Given the description of an element on the screen output the (x, y) to click on. 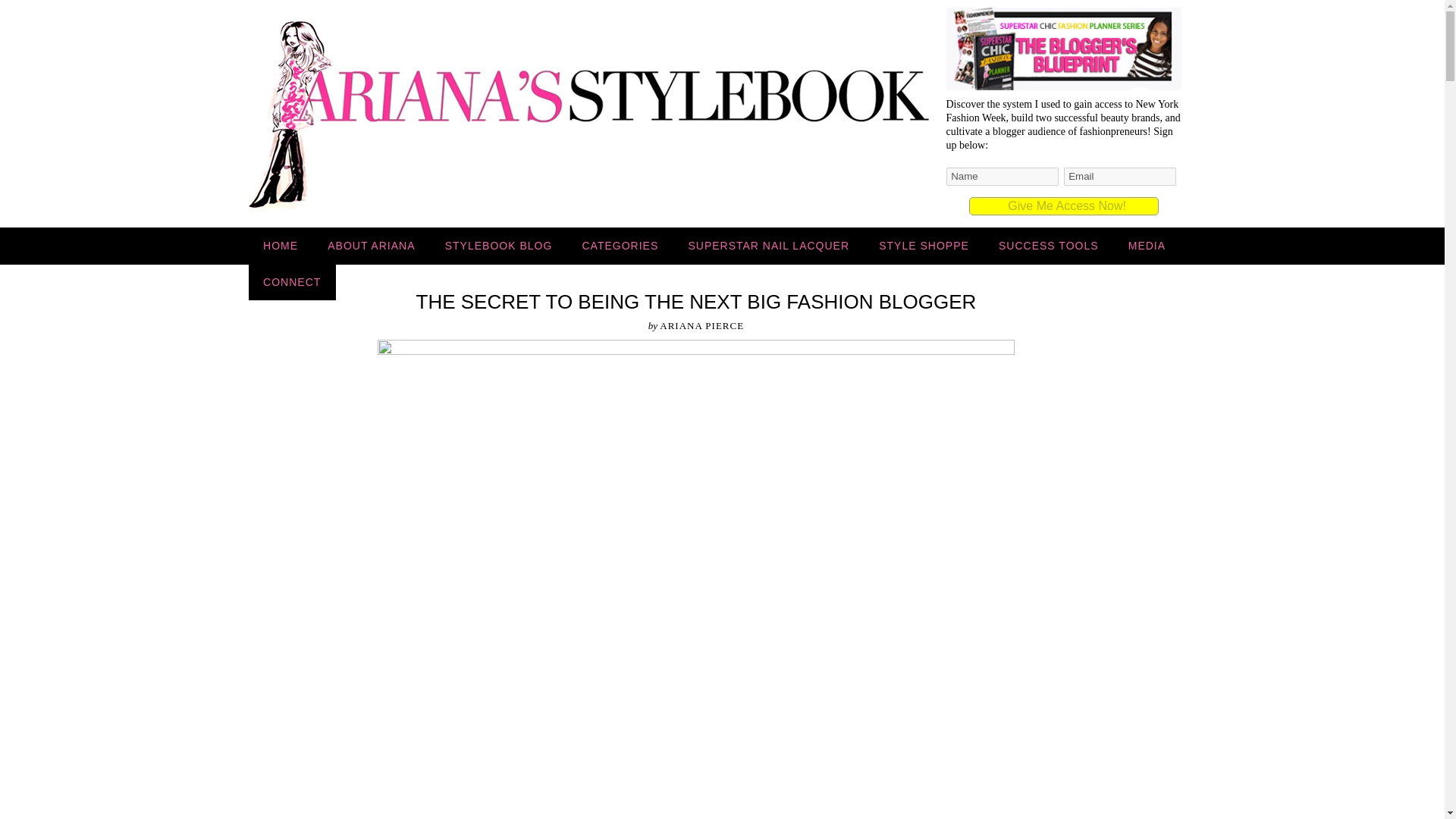
STYLE SHOPPE (924, 245)
SUPERSTAR NAIL LACQUER (768, 245)
Give Me Access Now! (1063, 206)
Give Me Access Now! (1063, 206)
SUCCESS TOOLS (1048, 245)
STYLEBOOK BLOG (498, 245)
CONNECT (292, 280)
Search (17, 7)
Email (1119, 176)
Name (1002, 176)
ABOUT ARIANA (371, 245)
HOME (280, 245)
CATEGORIES (619, 245)
MEDIA (1146, 245)
